Given the description of an element on the screen output the (x, y) to click on. 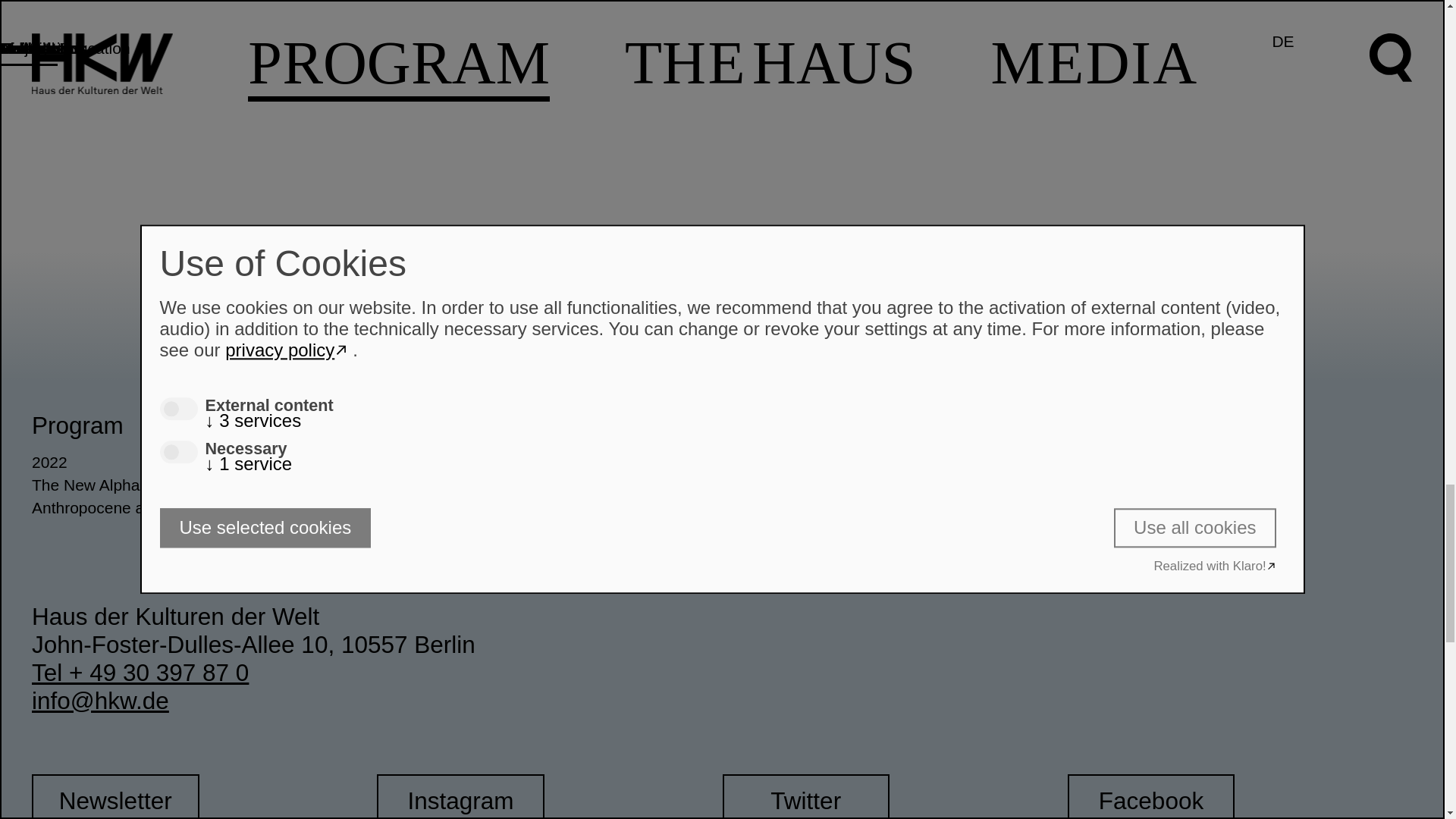
Privacy Policy (1129, 507)
Architecture (549, 485)
Visit (744, 424)
About Us (549, 462)
Program 2022 (204, 462)
Accessibility (894, 485)
The House (435, 424)
Team (1239, 485)
The New Alphabet (204, 485)
Program (77, 424)
